Given the description of an element on the screen output the (x, y) to click on. 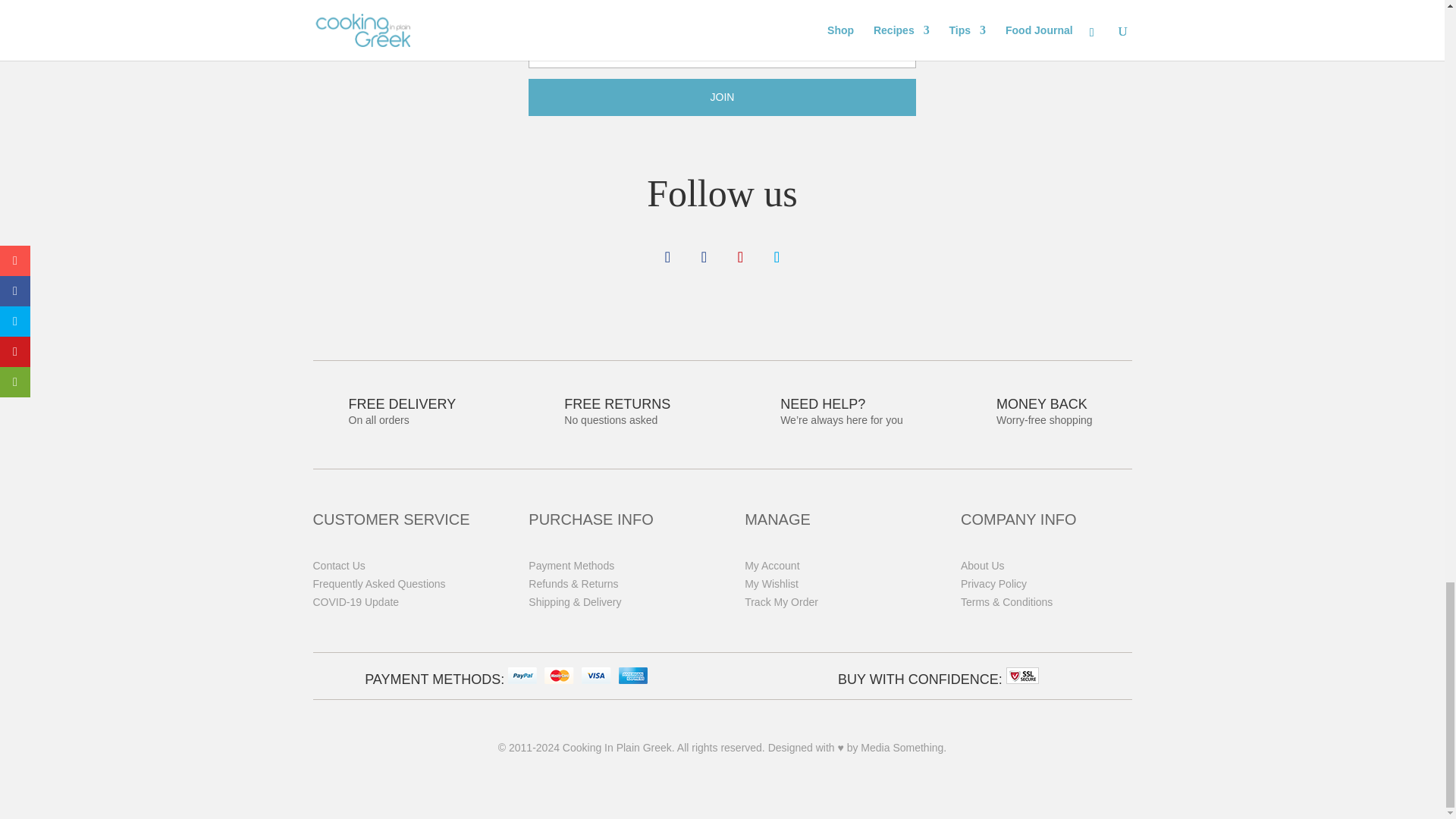
Follow on Instagram (703, 256)
Follow on Pinterest (740, 256)
JOIN (721, 96)
Follow on Twitter (776, 256)
Follow on Facebook (667, 256)
Visit Media Something (903, 747)
